Given the description of an element on the screen output the (x, y) to click on. 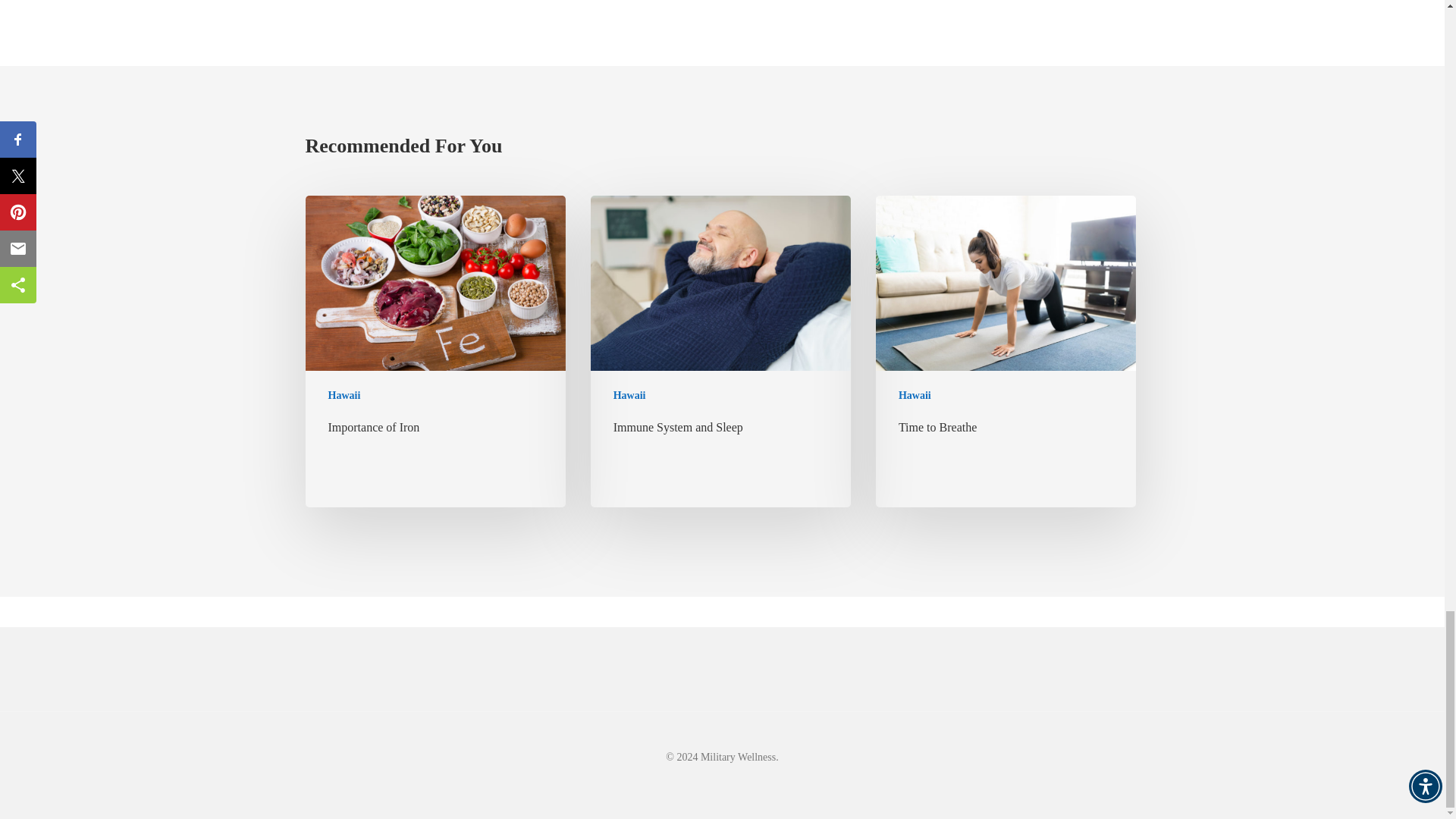
Hawaii (343, 395)
Hawaii (914, 395)
Hawaii (629, 395)
